Given the description of an element on the screen output the (x, y) to click on. 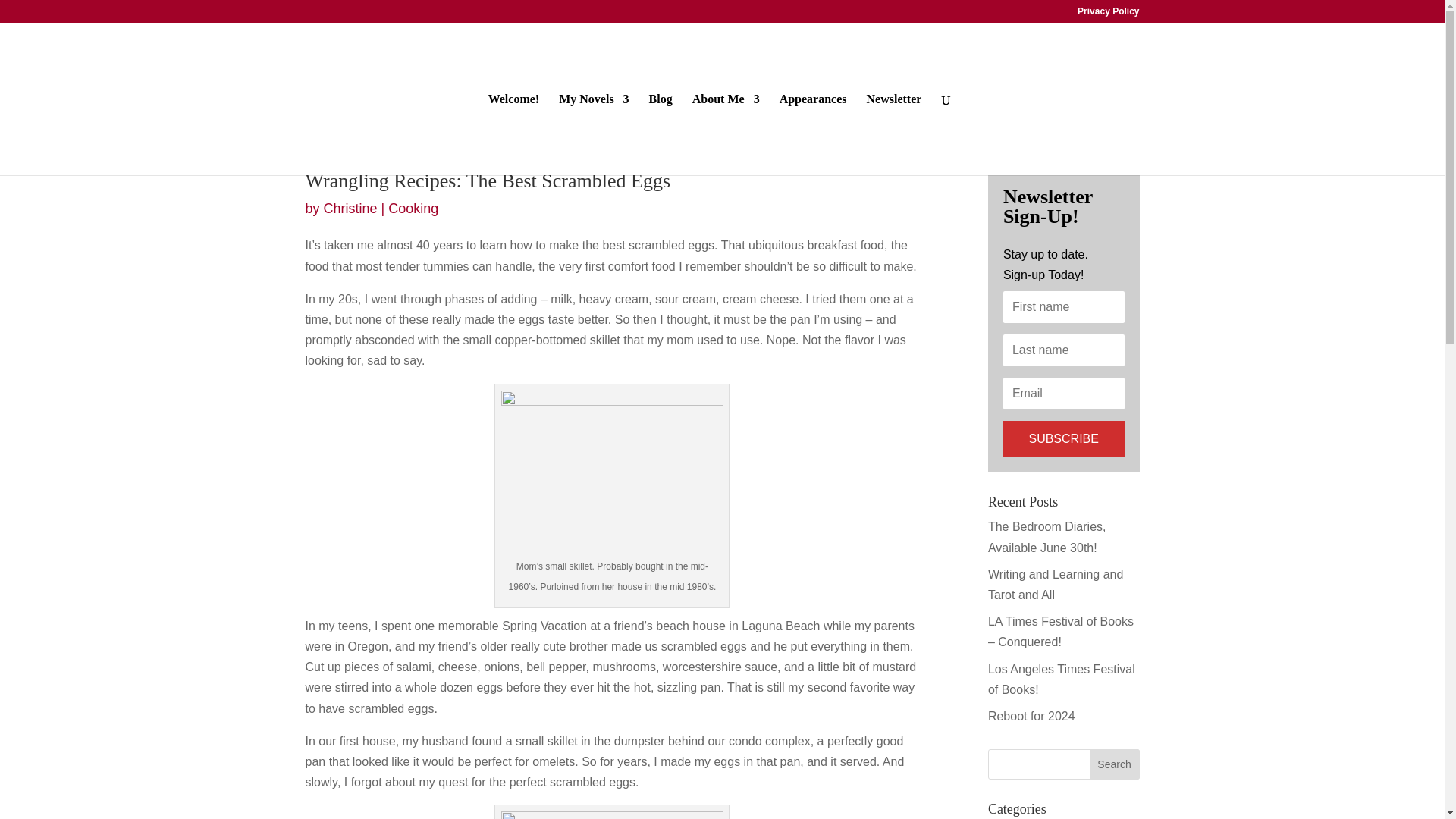
Writing and Learning and Tarot and All (1056, 584)
SUBSCRIBE (1063, 438)
Search (1114, 764)
Privacy Policy (1107, 14)
SUBSCRIBE (1063, 438)
Wrangling Recipes: The Best Scrambled Eggs (486, 180)
Pan rescued from Dumpster (611, 815)
Cooking (413, 208)
Posts by Christine (350, 208)
The Bedroom Diaries, Available June 30th! (1047, 536)
Reboot for 2024 (1031, 716)
Christine (350, 208)
Search (1114, 764)
Los Angeles Times Festival of Books! (1061, 679)
Mom's pan (611, 472)
